Given the description of an element on the screen output the (x, y) to click on. 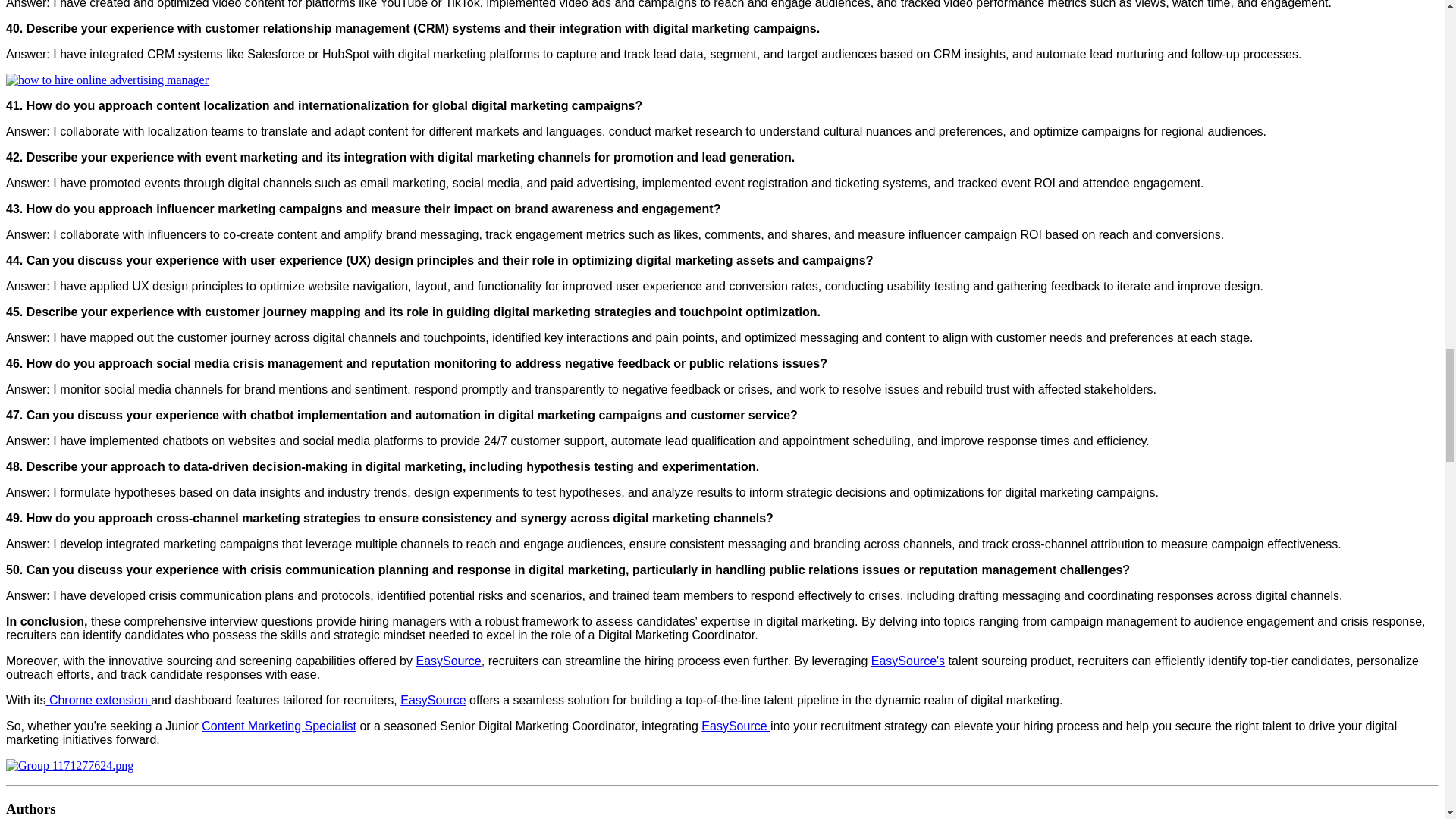
Content Marketing Specialist (279, 725)
Chrome extension (98, 699)
EasySource (735, 725)
EasySource (447, 660)
EasySource's (907, 660)
EasySource (432, 699)
